Given the description of an element on the screen output the (x, y) to click on. 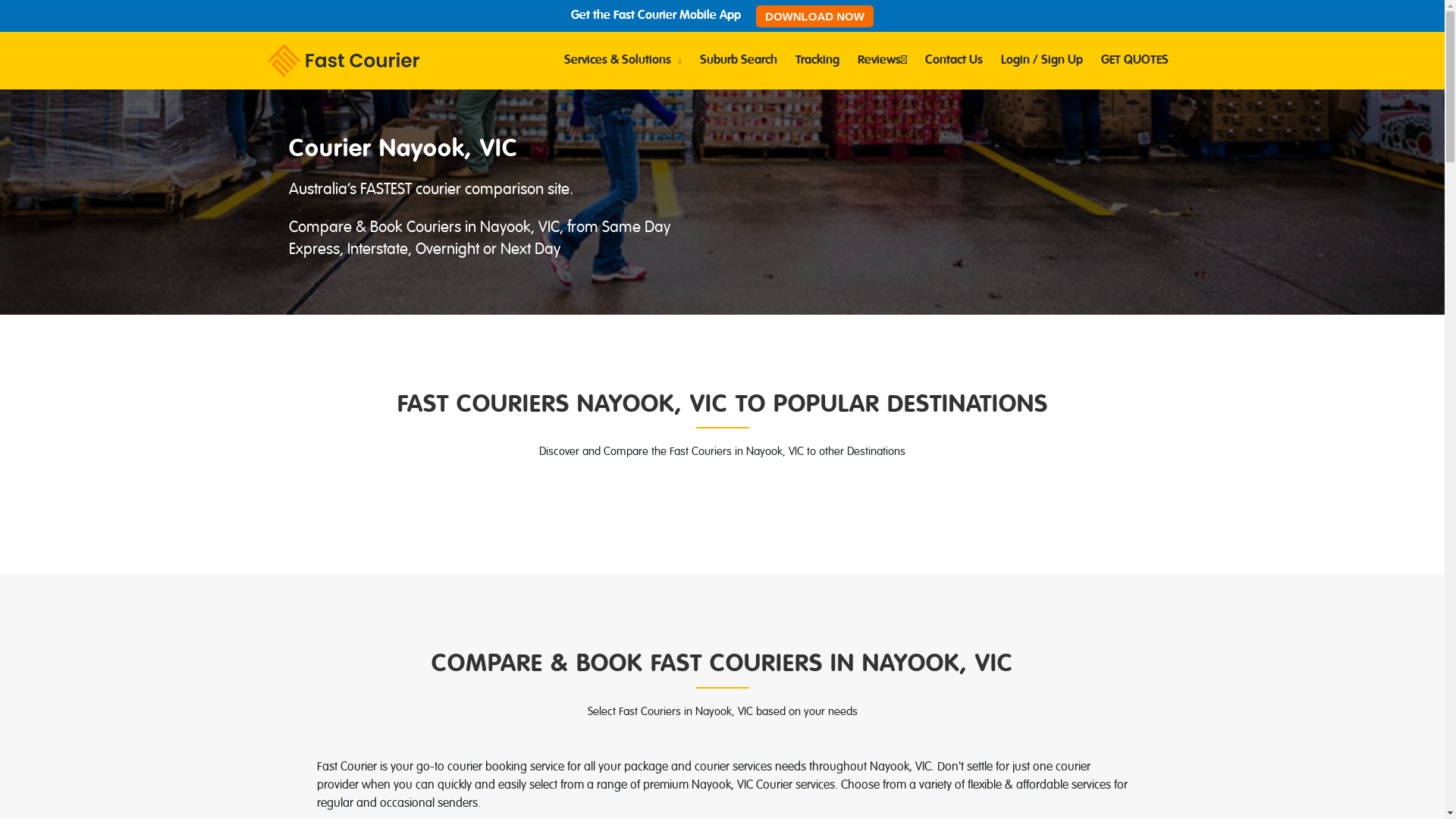
Track Now Element type: text (721, 427)
Tracking Element type: text (816, 60)
Services & Solutions Element type: text (622, 60)
Suburb Search Element type: text (737, 60)
Login / Sign Up Element type: text (1041, 60)
GET QUOTES Element type: text (1134, 60)
Contact Us Element type: text (953, 60)
DOWNLOAD NOW Element type: text (814, 15)
